Given the description of an element on the screen output the (x, y) to click on. 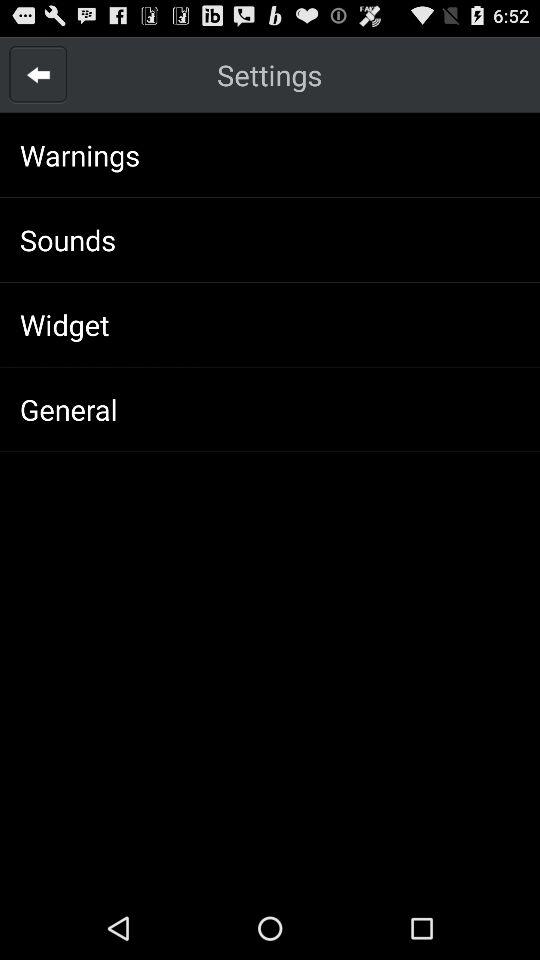
swipe to sounds item (67, 239)
